Given the description of an element on the screen output the (x, y) to click on. 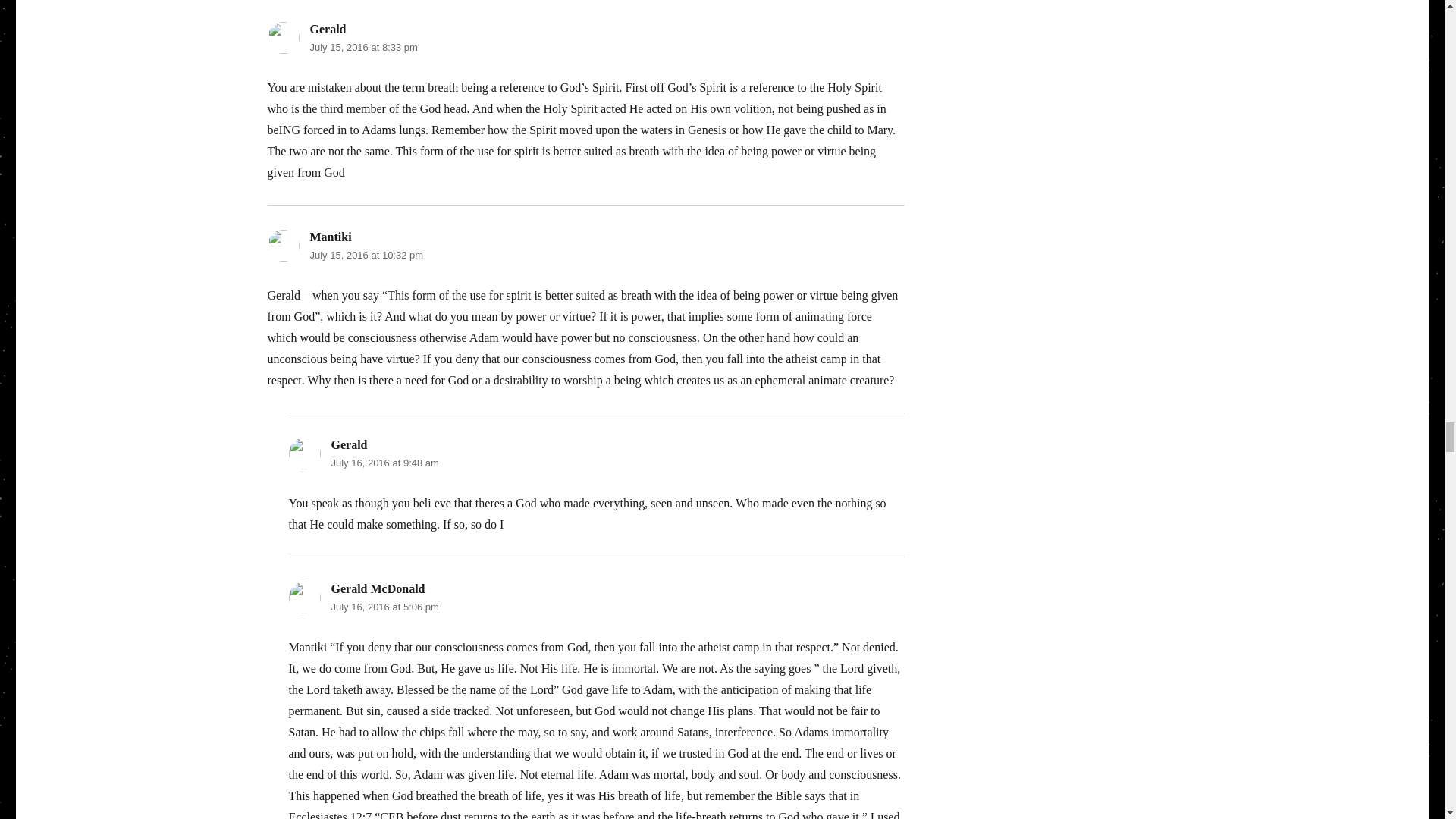
July 16, 2016 at 5:06 pm (384, 606)
July 15, 2016 at 10:32 pm (365, 255)
July 16, 2016 at 9:48 am (384, 462)
July 15, 2016 at 8:33 pm (362, 47)
